Given the description of an element on the screen output the (x, y) to click on. 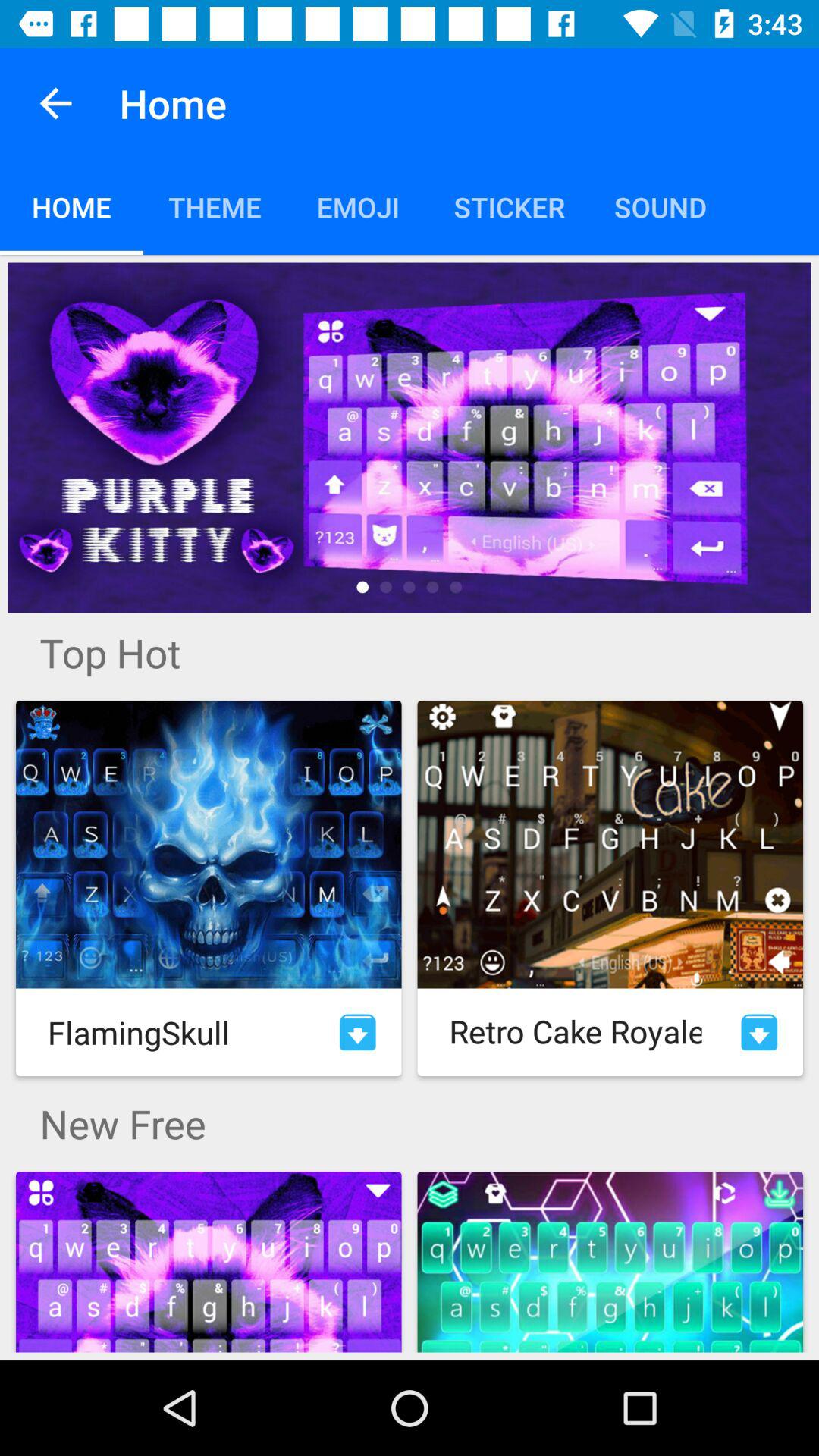
select current option (409, 437)
